Given the description of an element on the screen output the (x, y) to click on. 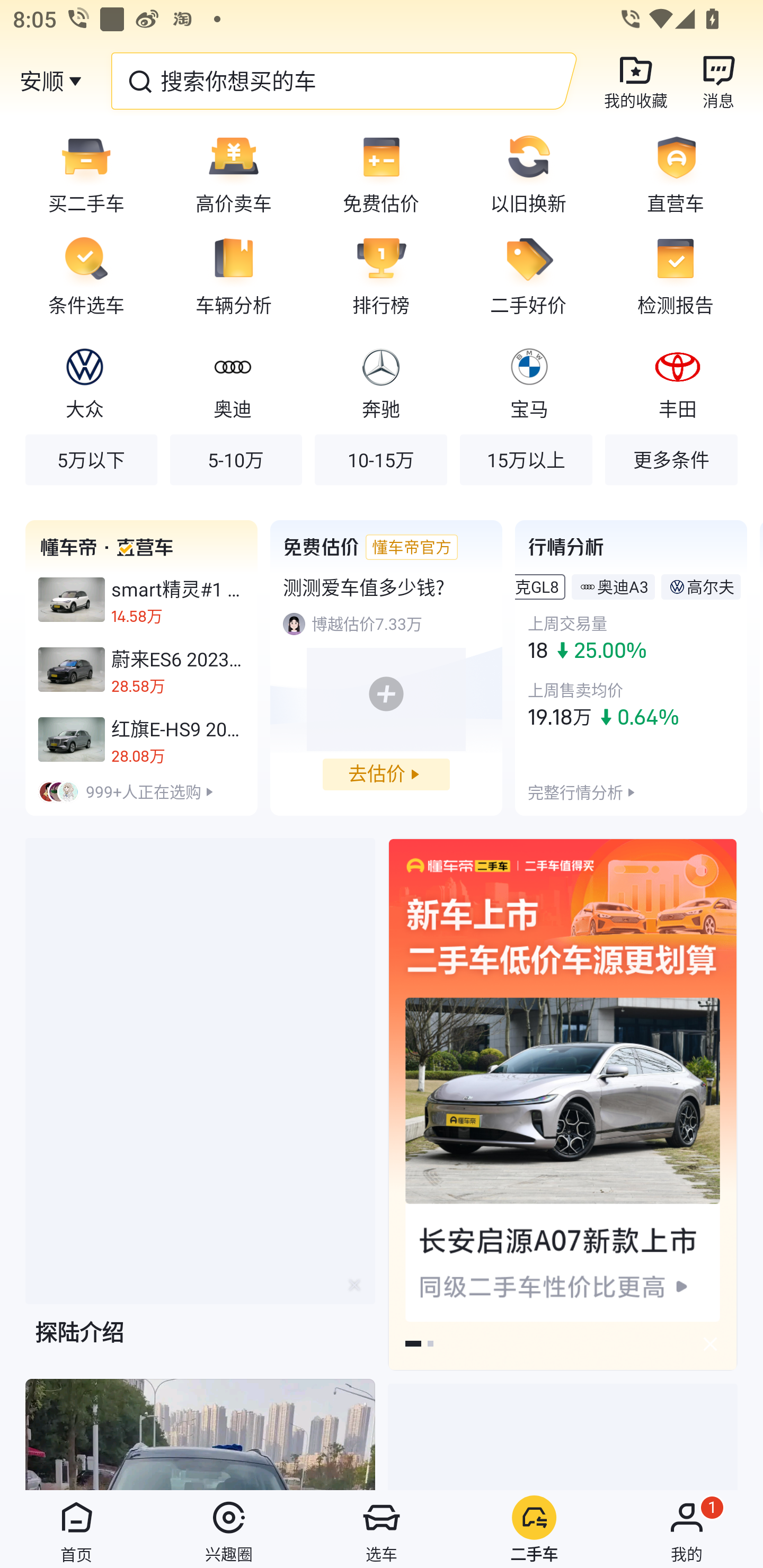
我的收藏 (635, 80)
安顺 (41, 80)
买二手车 (80, 172)
高价卖车 (233, 172)
免费估价 (380, 172)
以旧换新 (528, 172)
直营车 (682, 172)
条件选车 (80, 274)
车辆分析 (233, 274)
排行榜 (380, 274)
二手好价 (528, 274)
检测报告 (682, 274)
大众 (84, 381)
奥迪 (232, 381)
奔驰 (380, 381)
宝马 (529, 381)
丰田 (677, 381)
5万以下 (91, 459)
5-10万 (236, 459)
10-15万 (380, 459)
15万以上 (526, 459)
更多条件 (671, 459)
测测爱车值多少钱? 博越估价7.33万 去估价  (386, 667)
smart精灵#1 2023款 Pro 14.58万 (141, 599)
别克GL8 (537, 585)
奥迪A3 (622, 585)
高尔夫 (710, 585)
蔚来ES6 2023款 75kWh 28.58万 (141, 669)
红旗E-HS9 2020款 460km 旗享版 六座 28.08万 (141, 739)
999+人正在选购 (141, 791)
完整行情分析 (575, 791)
探陆介绍 (200, 1107)
 首页 (76, 1528)
 兴趣圈 (228, 1528)
 选车 (381, 1528)
二手车 (533, 1528)
 我的 (686, 1528)
